Given the description of an element on the screen output the (x, y) to click on. 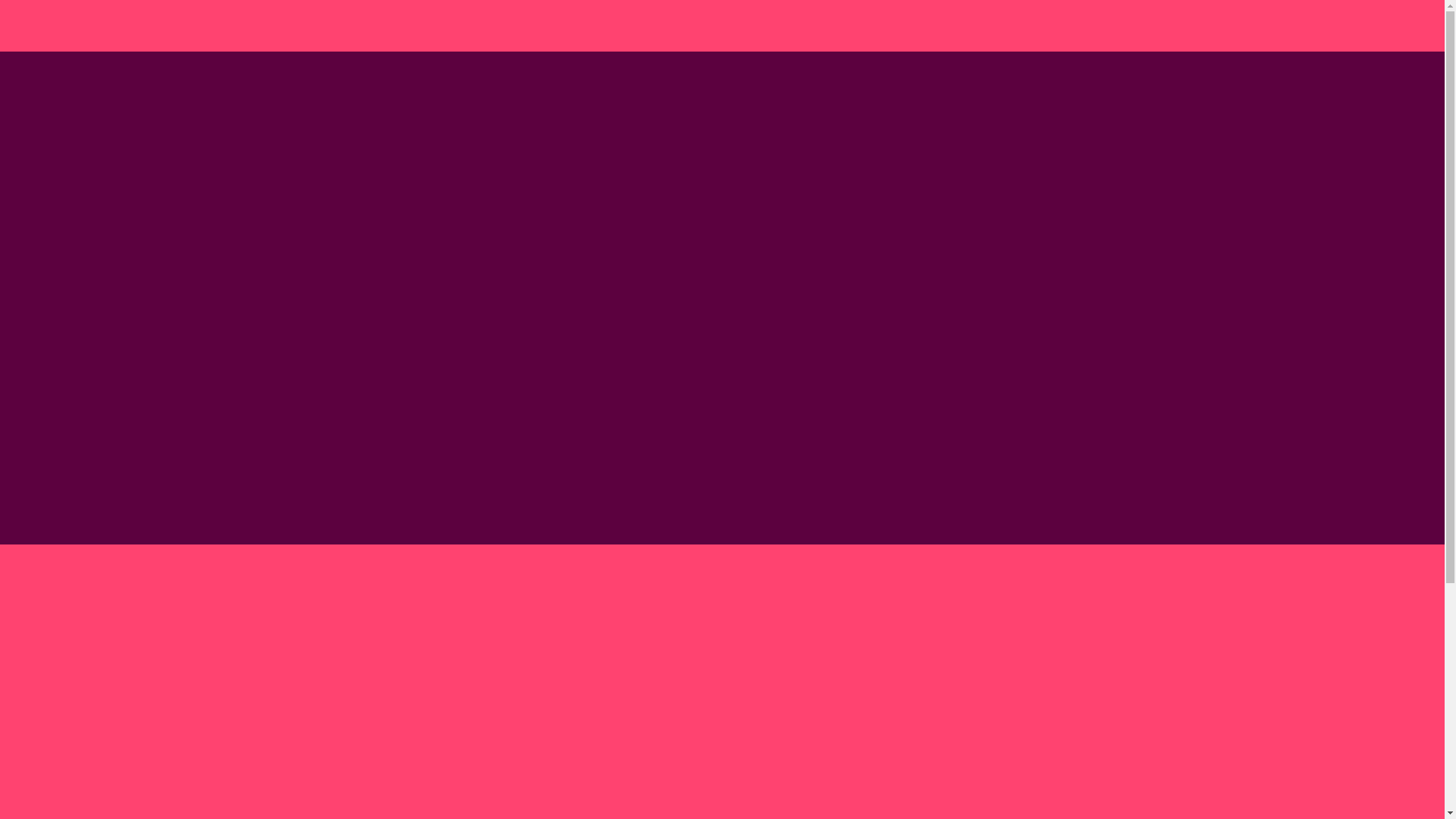
Life at Banijay (969, 27)
Our Story (571, 812)
News (1181, 27)
People (892, 27)
Companies (1114, 27)
Investors (1242, 27)
Shows (1045, 27)
Our Story (828, 27)
